Given the description of an element on the screen output the (x, y) to click on. 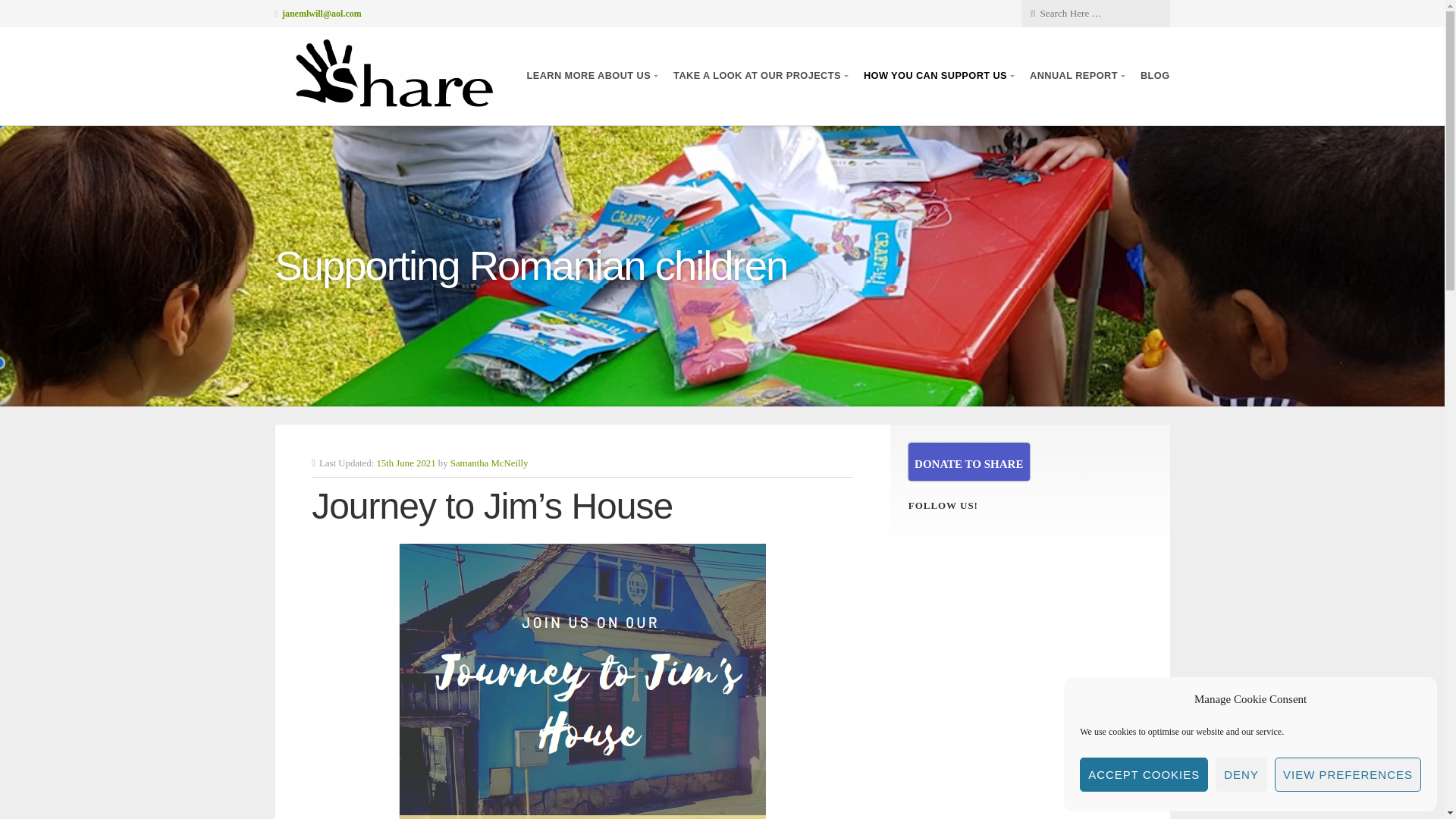
BLOG (1155, 75)
DENY (1240, 774)
LEARN MORE ABOUT US (591, 75)
ANNUAL REPORT (1075, 75)
VIEW PREFERENCES (1348, 774)
15th June 2021 (405, 462)
Press here to donate to Share (968, 461)
Go (116, 12)
ACCEPT COOKIES (1144, 774)
TAKE A LOOK AT OUR PROJECTS (758, 75)
View all posts by Samantha McNeilly (488, 462)
9:05 PM (405, 462)
HOW YOU CAN SUPPORT US (937, 75)
